Given the description of an element on the screen output the (x, y) to click on. 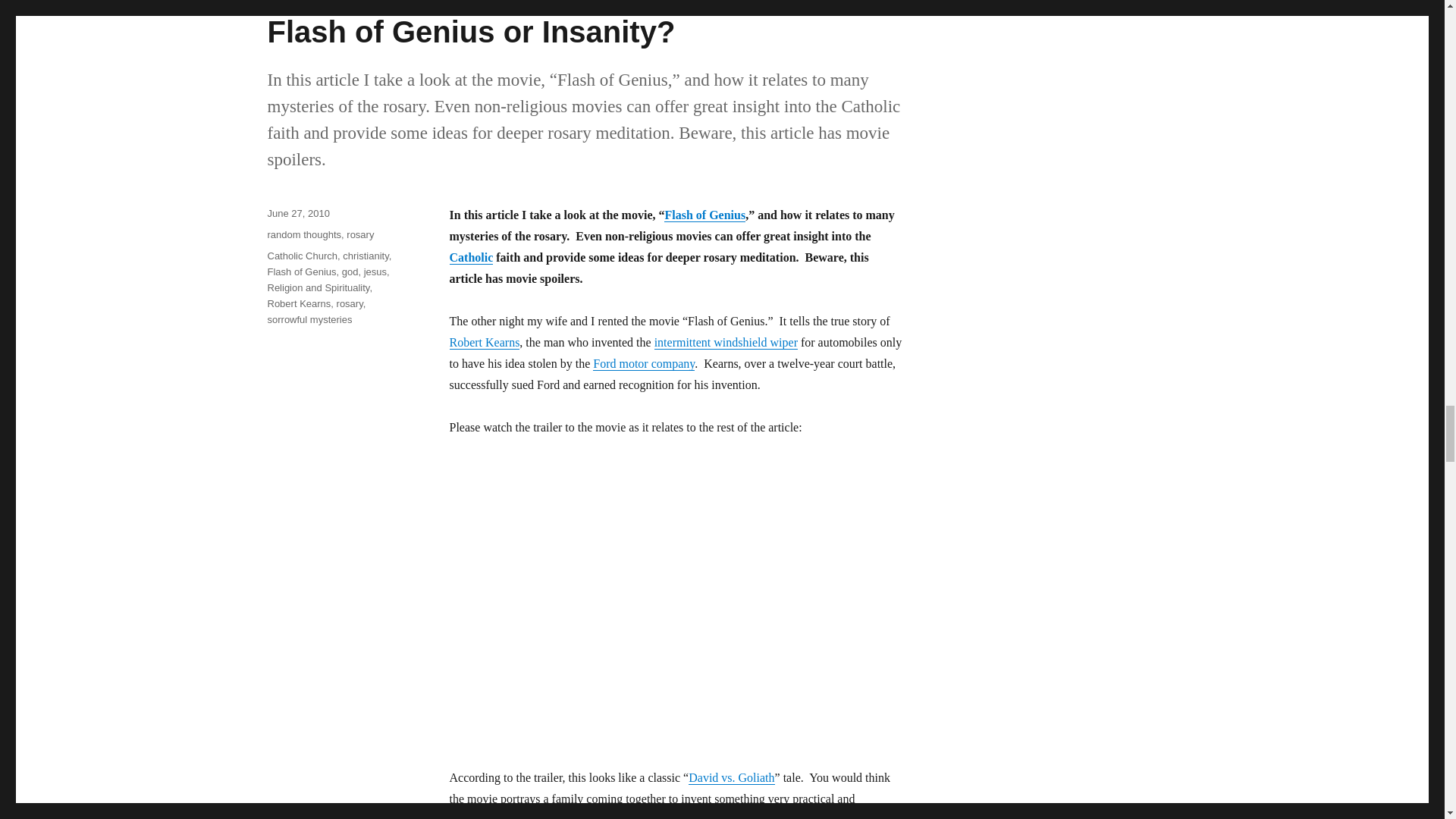
Flash of Genius (704, 214)
Windscreen wiper (725, 341)
Ford Motor Company (643, 363)
Robert Kearns (483, 341)
Goliath (731, 777)
Catholic Church (470, 256)
